Given the description of an element on the screen output the (x, y) to click on. 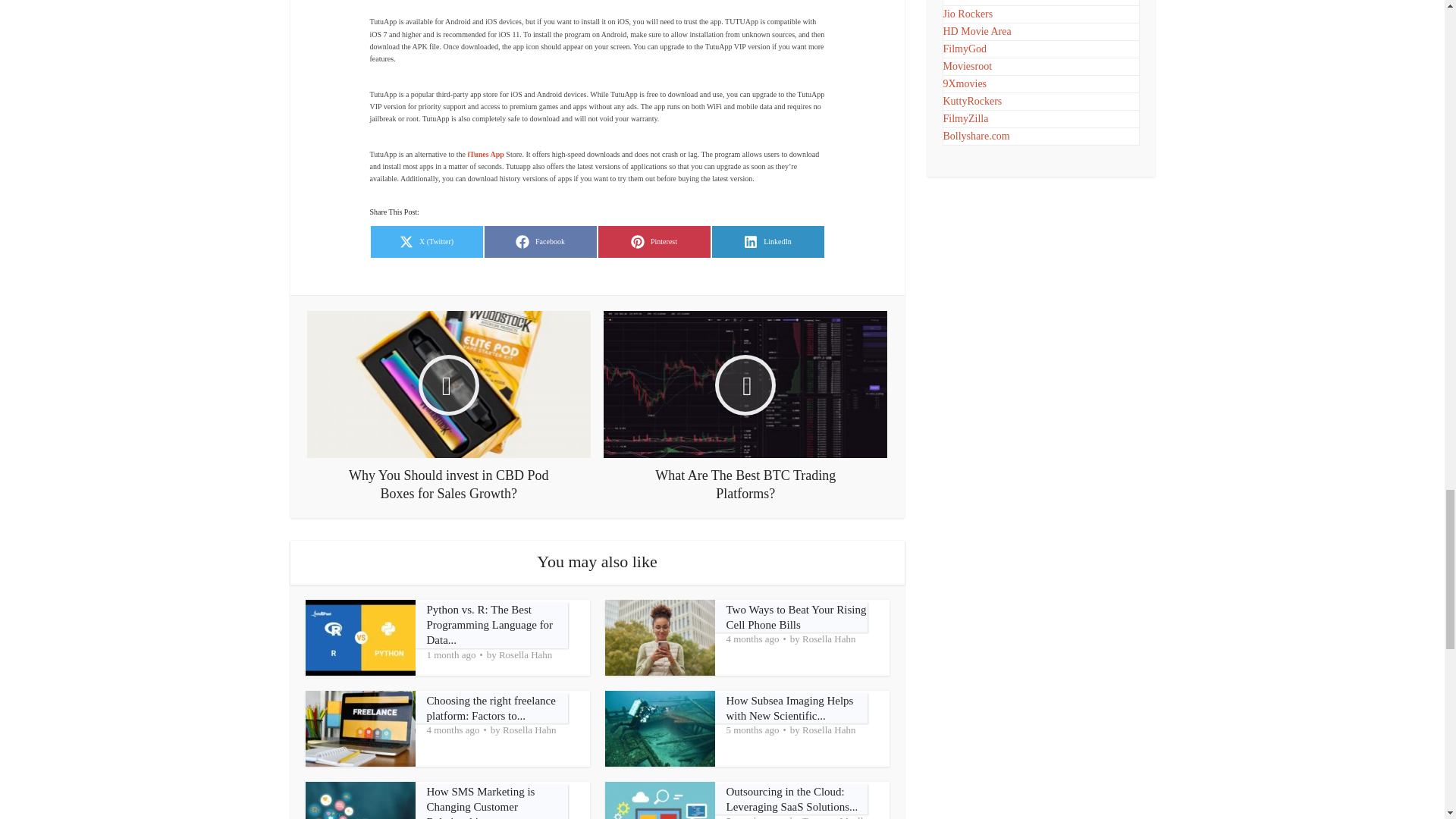
What Are The Best BTC Trading Platforms? (539, 241)
Python vs. R: The Best Programming Language for Data... (745, 406)
How Subsea Imaging Helps with New Scientific Discoveries (489, 625)
Rosella Hahn (789, 707)
Two Ways to Beat Your Rising Cell Phone Bills (525, 655)
iTunes App (796, 616)
